Given the description of an element on the screen output the (x, y) to click on. 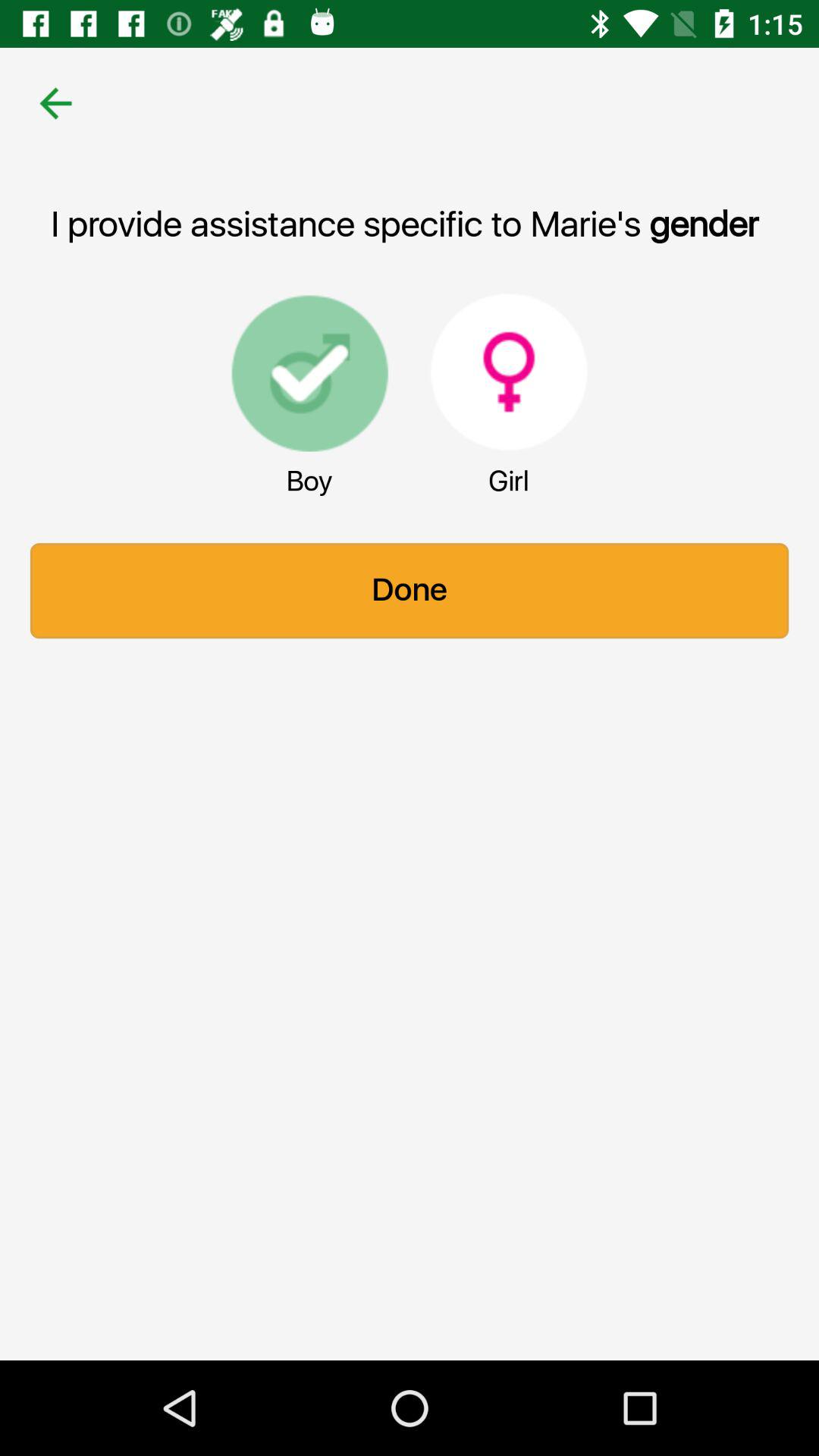
turn off the item at the center (409, 590)
